Given the description of an element on the screen output the (x, y) to click on. 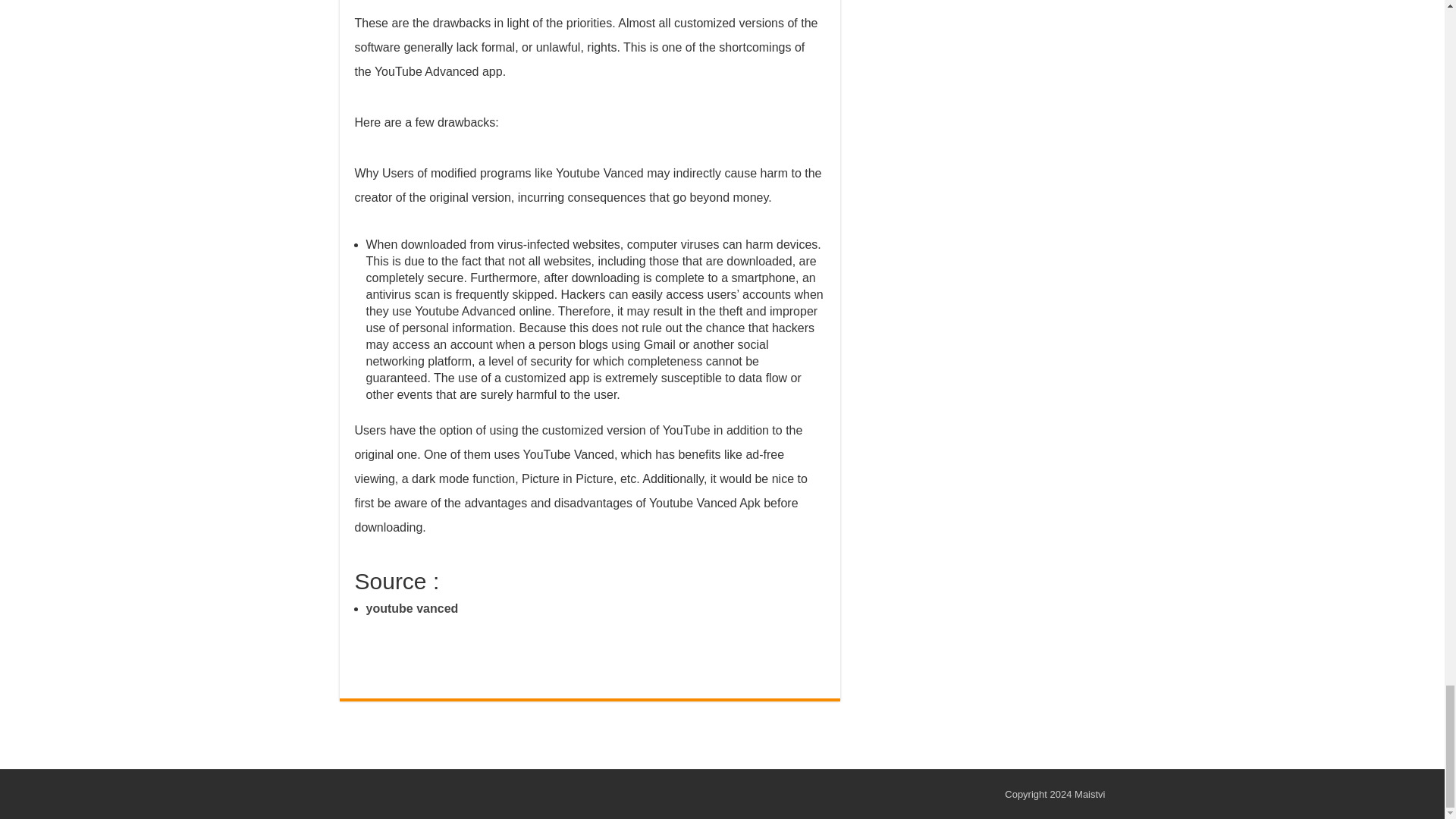
Maistvi (1089, 794)
youtube vanced (411, 608)
